Given the description of an element on the screen output the (x, y) to click on. 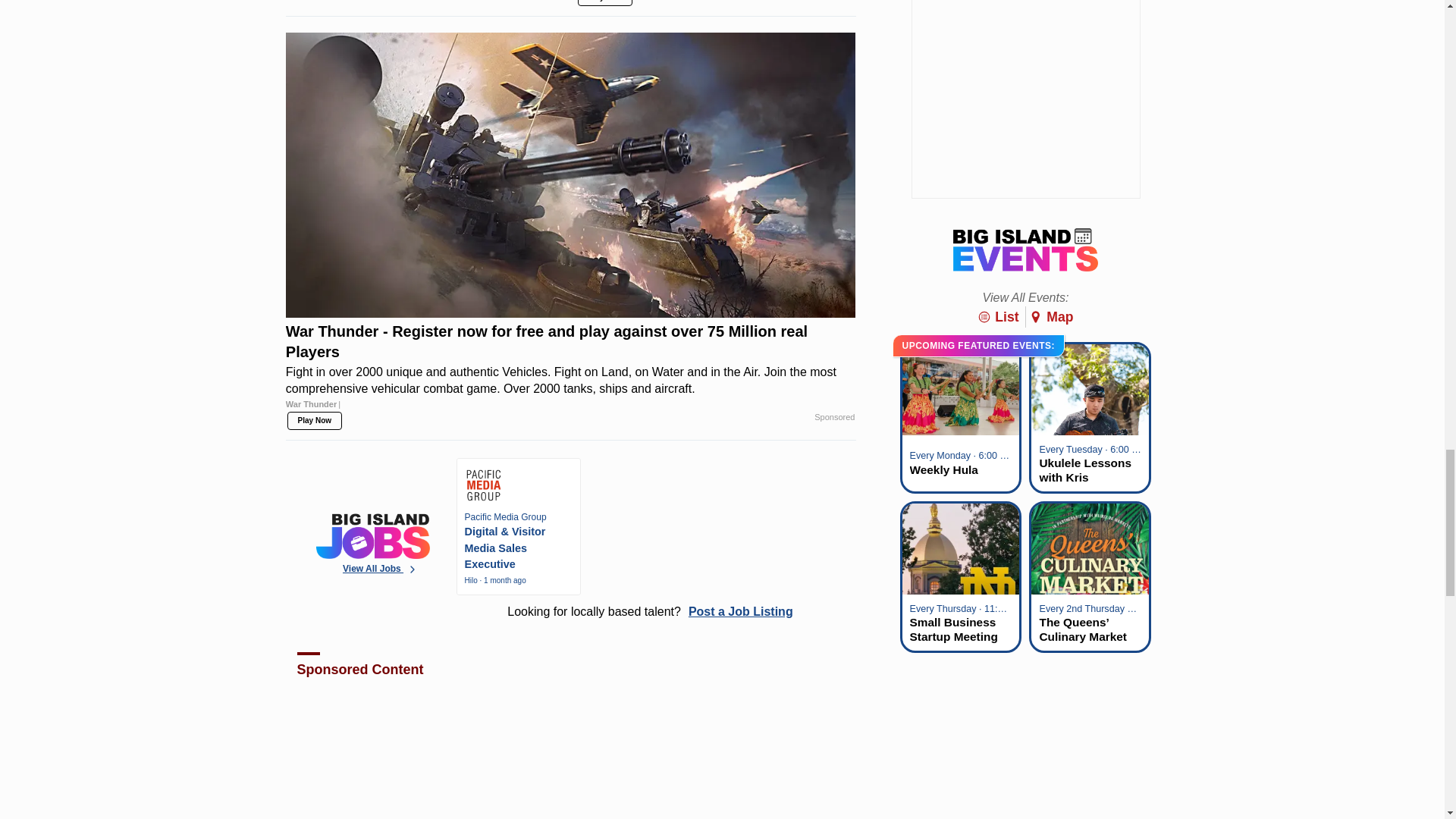
List Circle (983, 316)
Chevron Forward (412, 569)
